Given the description of an element on the screen output the (x, y) to click on. 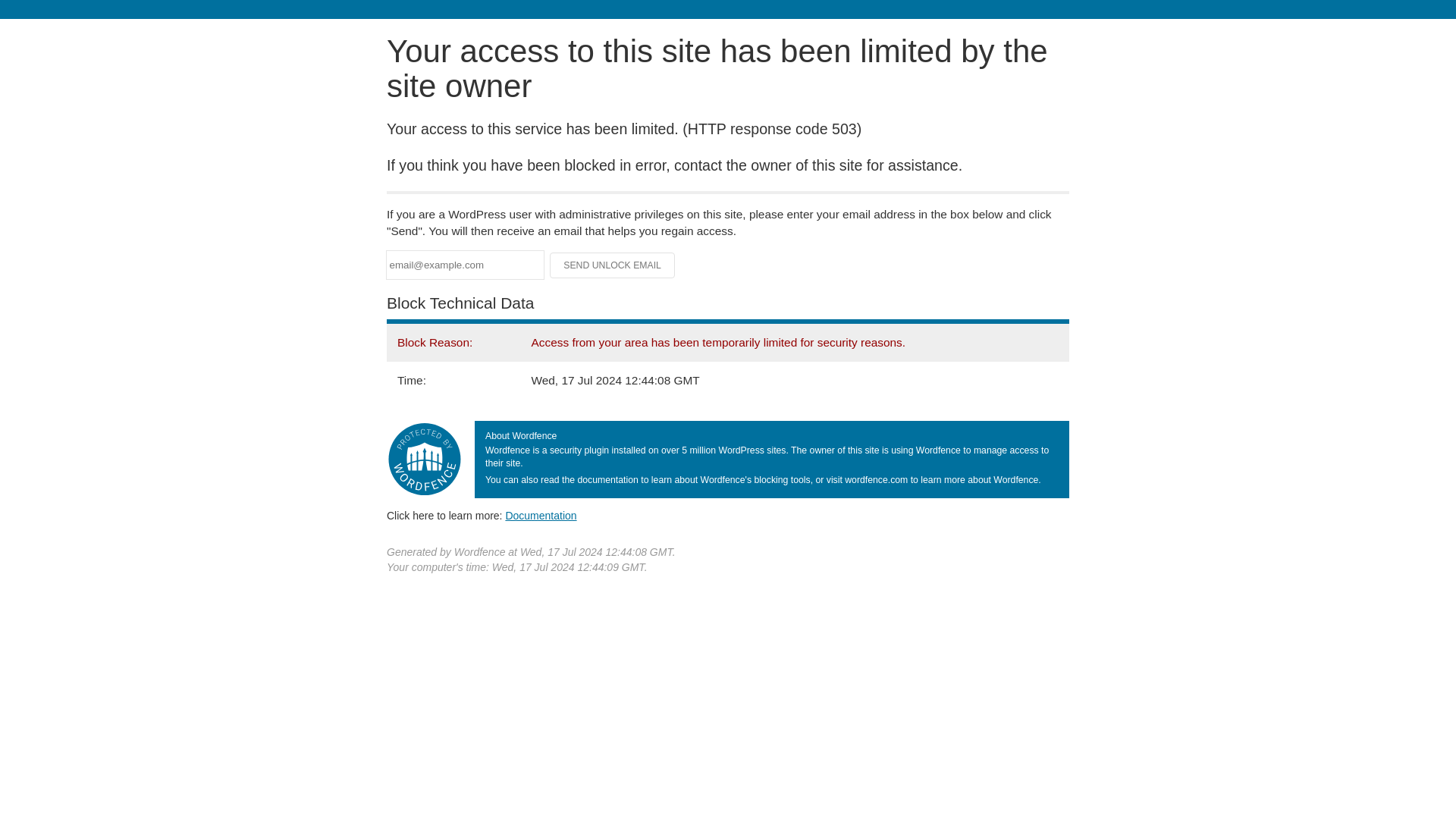
Send Unlock Email (612, 265)
Send Unlock Email (612, 265)
Documentation (540, 515)
